Given the description of an element on the screen output the (x, y) to click on. 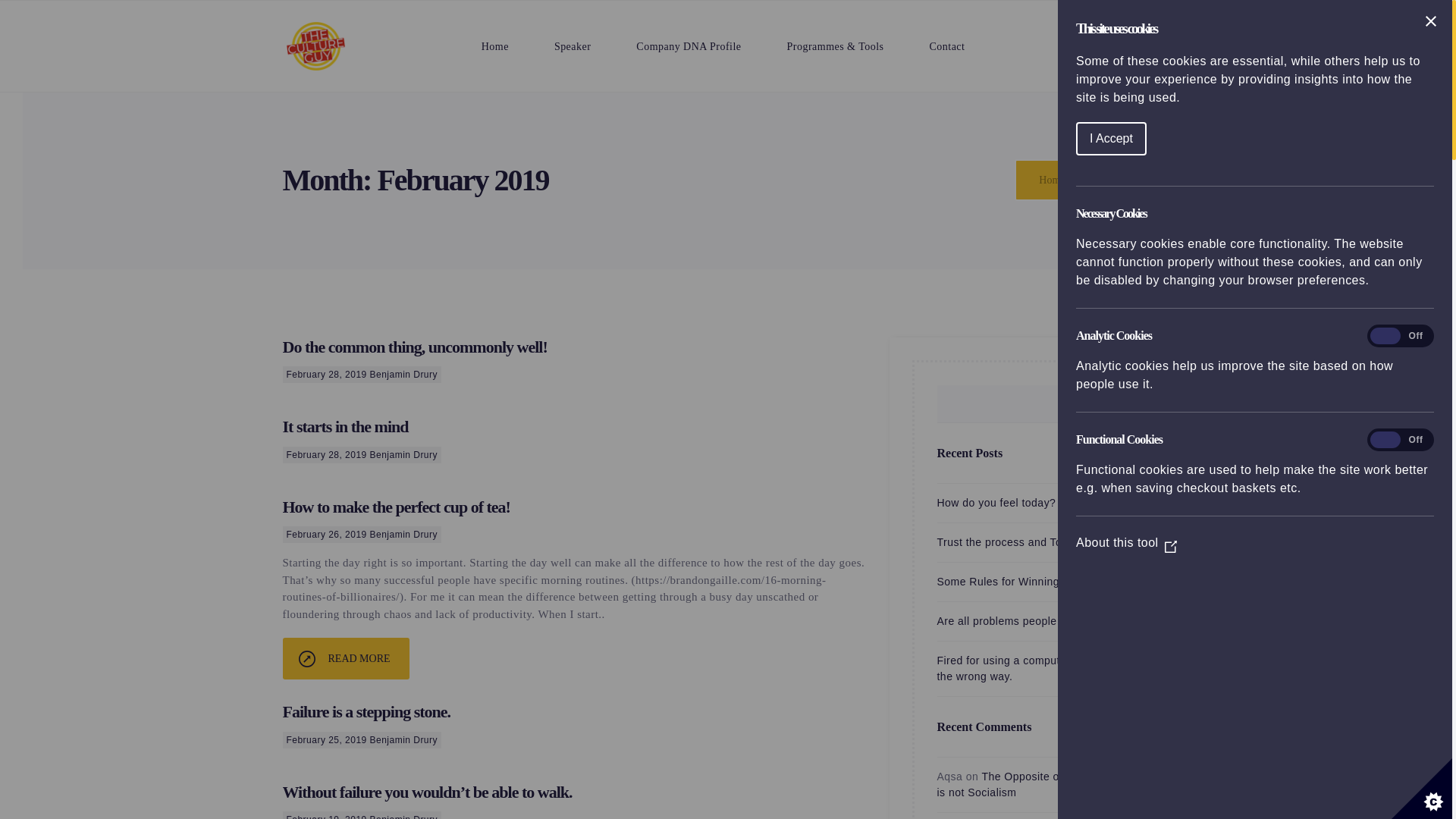
February 2019 (1114, 179)
Home (494, 45)
Company DNA Profile (687, 45)
Benjamin Drury, The Culture Guy. (1050, 179)
Speaker (571, 45)
Do the common thing, uncommonly well! (414, 346)
Home (1050, 179)
It starts in the mind (344, 425)
Contact (947, 45)
